Given the description of an element on the screen output the (x, y) to click on. 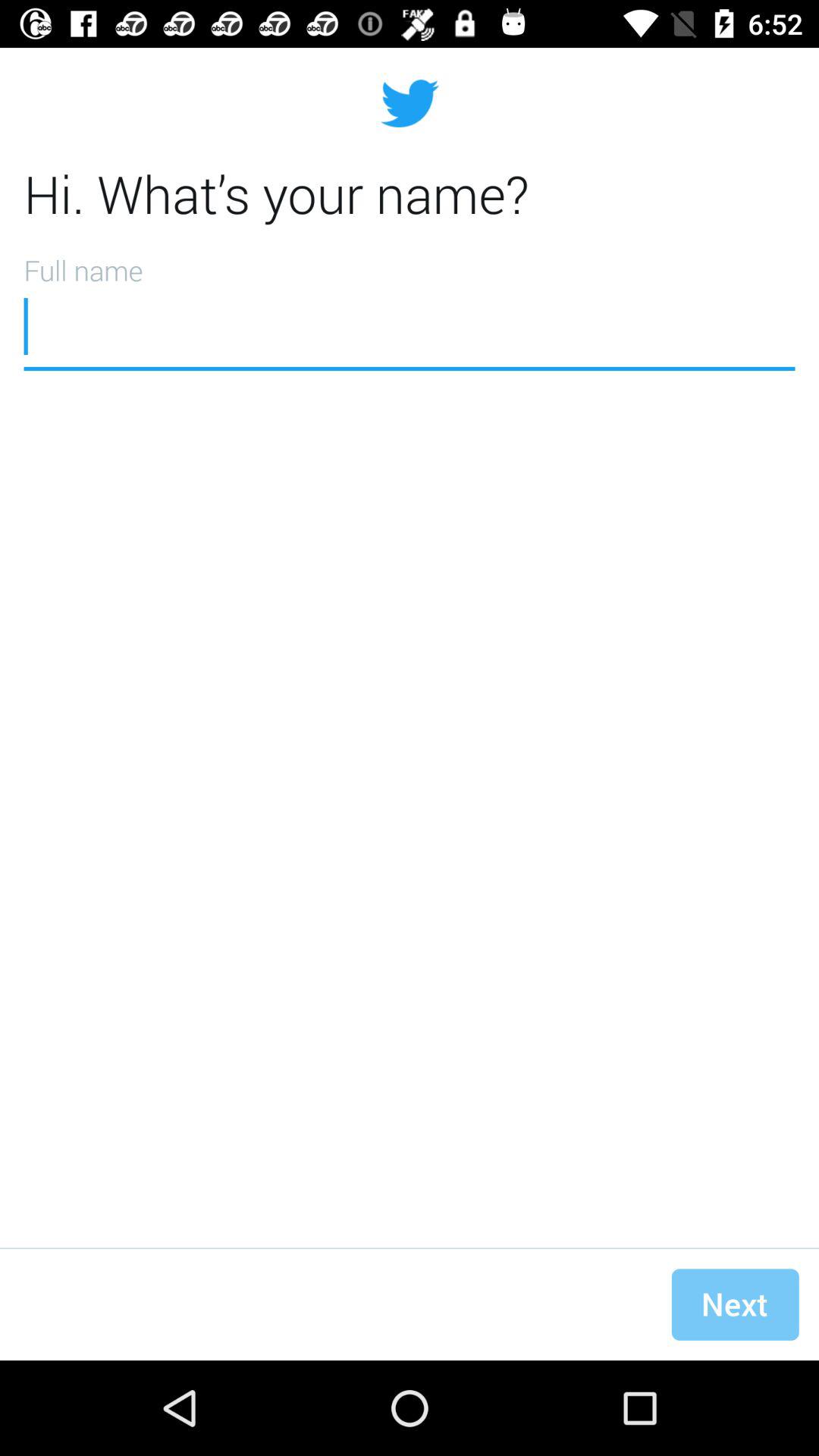
launch item below hi what s (409, 307)
